Given the description of an element on the screen output the (x, y) to click on. 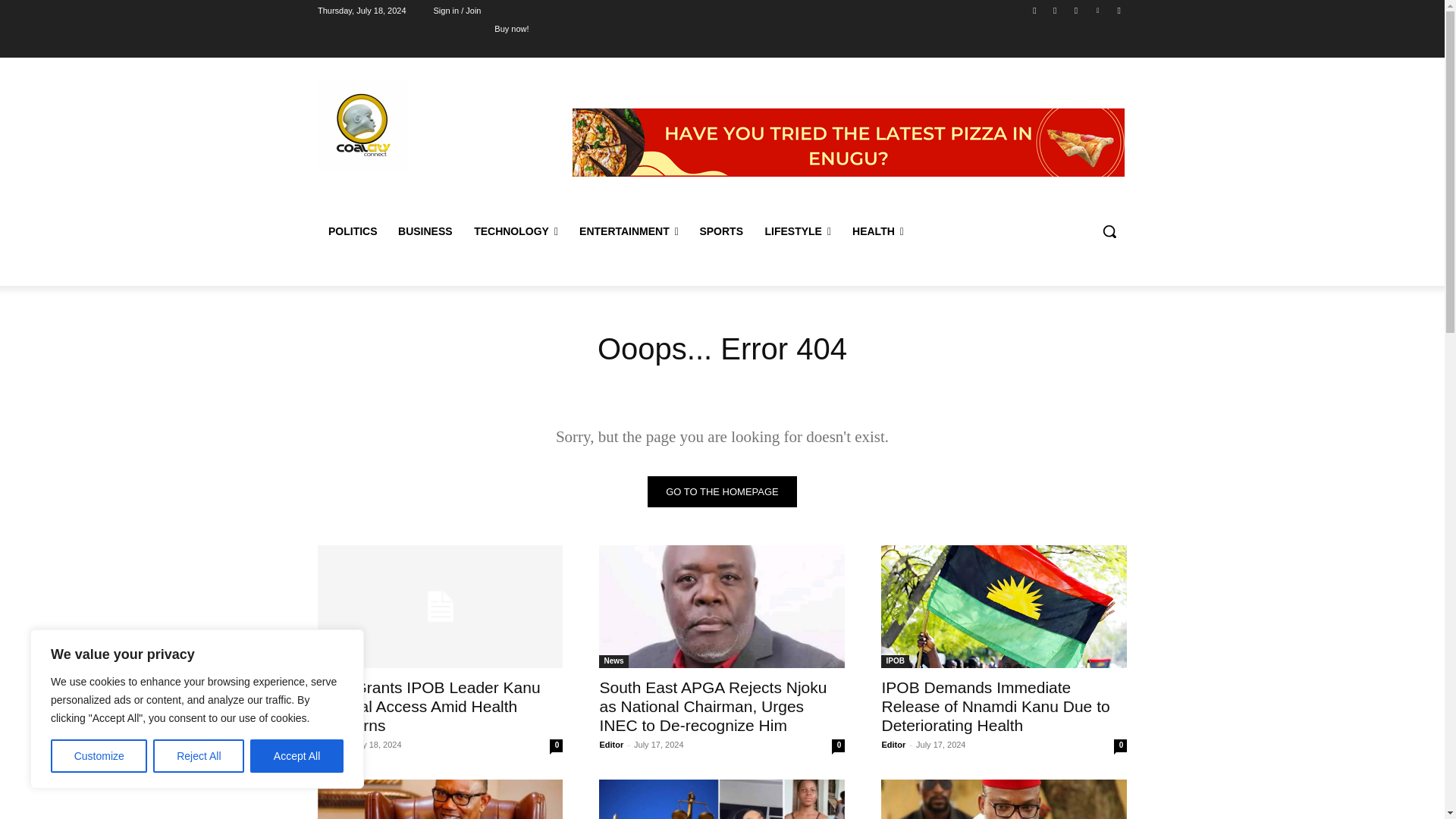
Accept All (296, 756)
Instagram (1055, 9)
POLITICS (352, 230)
Buy now! (511, 28)
TECHNOLOGY (516, 230)
Youtube (1117, 9)
Twitter (1075, 9)
Reject All (198, 756)
Facebook (1034, 9)
Customize (98, 756)
BUSINESS (425, 230)
Vimeo (1097, 9)
